Given the description of an element on the screen output the (x, y) to click on. 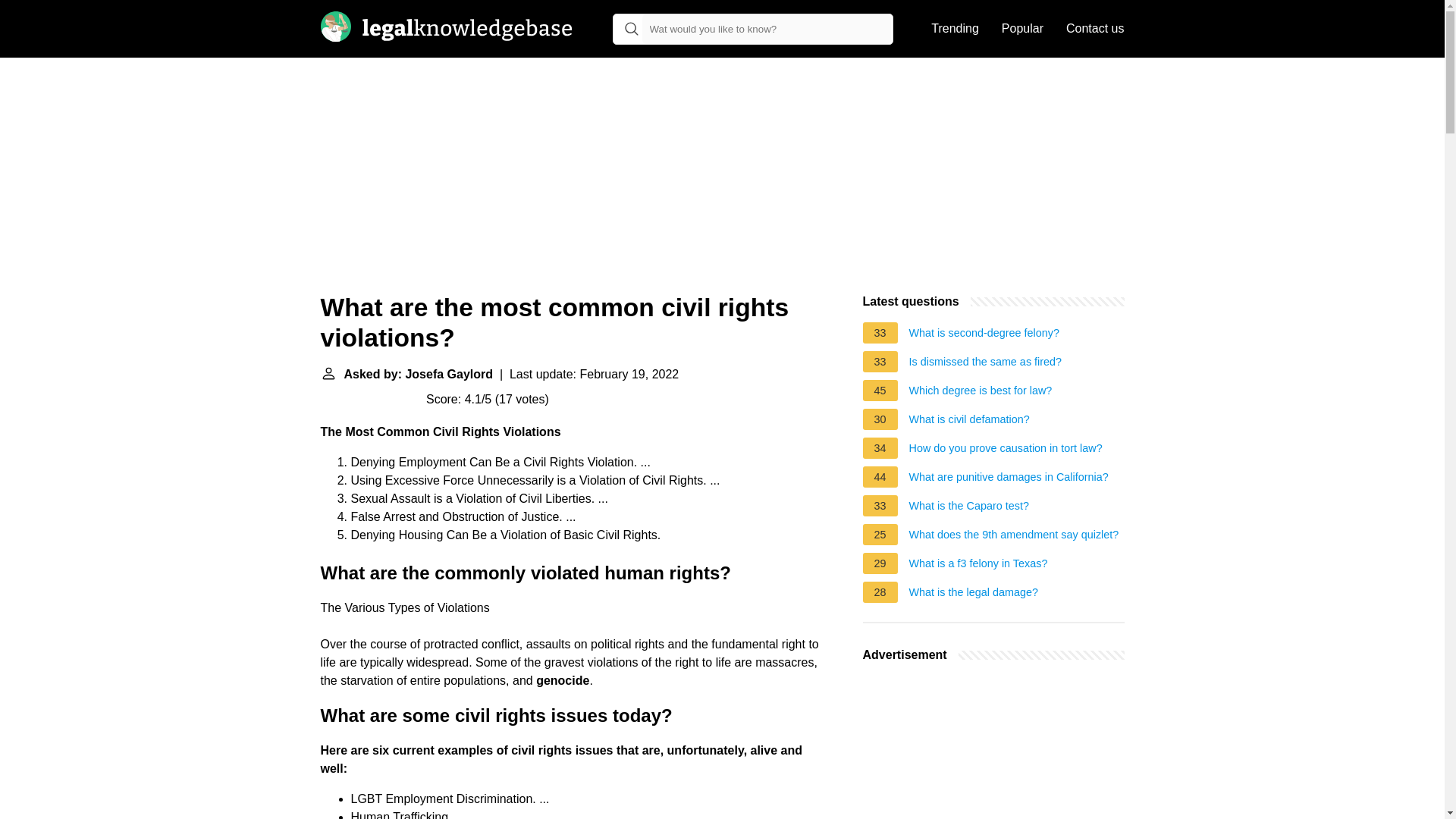
What are punitive damages in California? (1008, 478)
What is the Caparo test? (968, 507)
Is dismissed the same as fired? (985, 363)
What is the legal damage? (973, 594)
What does the 9th amendment say quizlet? (1013, 536)
How do you prove causation in tort law? (1005, 450)
Popular (1022, 28)
Trending (954, 28)
What is civil defamation? (968, 421)
What is a f3 felony in Texas? (978, 565)
Which degree is best for law? (980, 392)
Contact us (1094, 28)
What is second-degree felony? (983, 334)
